Given the description of an element on the screen output the (x, y) to click on. 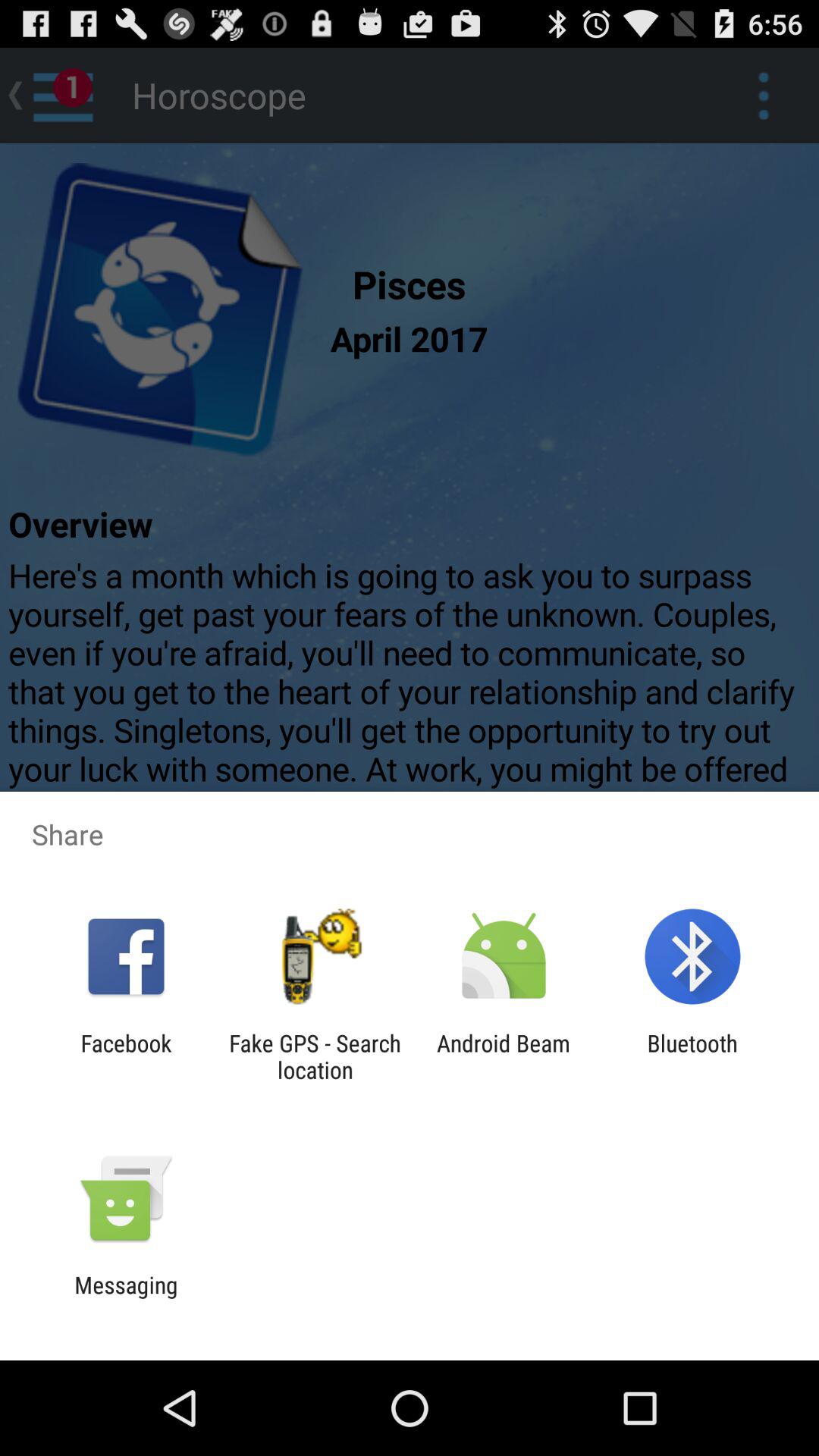
open the fake gps search app (314, 1056)
